Given the description of an element on the screen output the (x, y) to click on. 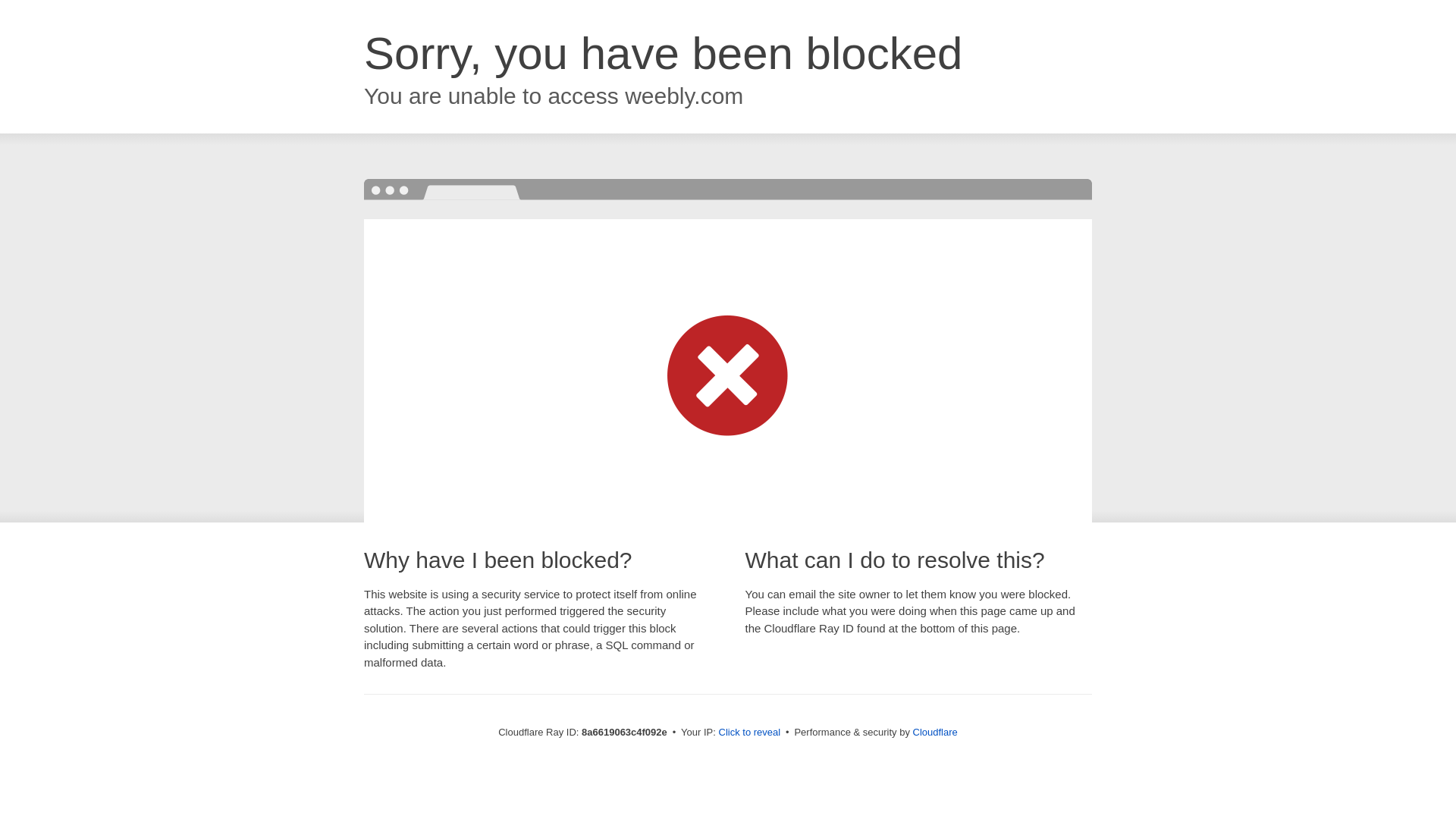
Click to reveal (749, 732)
Cloudflare (935, 731)
